Given the description of an element on the screen output the (x, y) to click on. 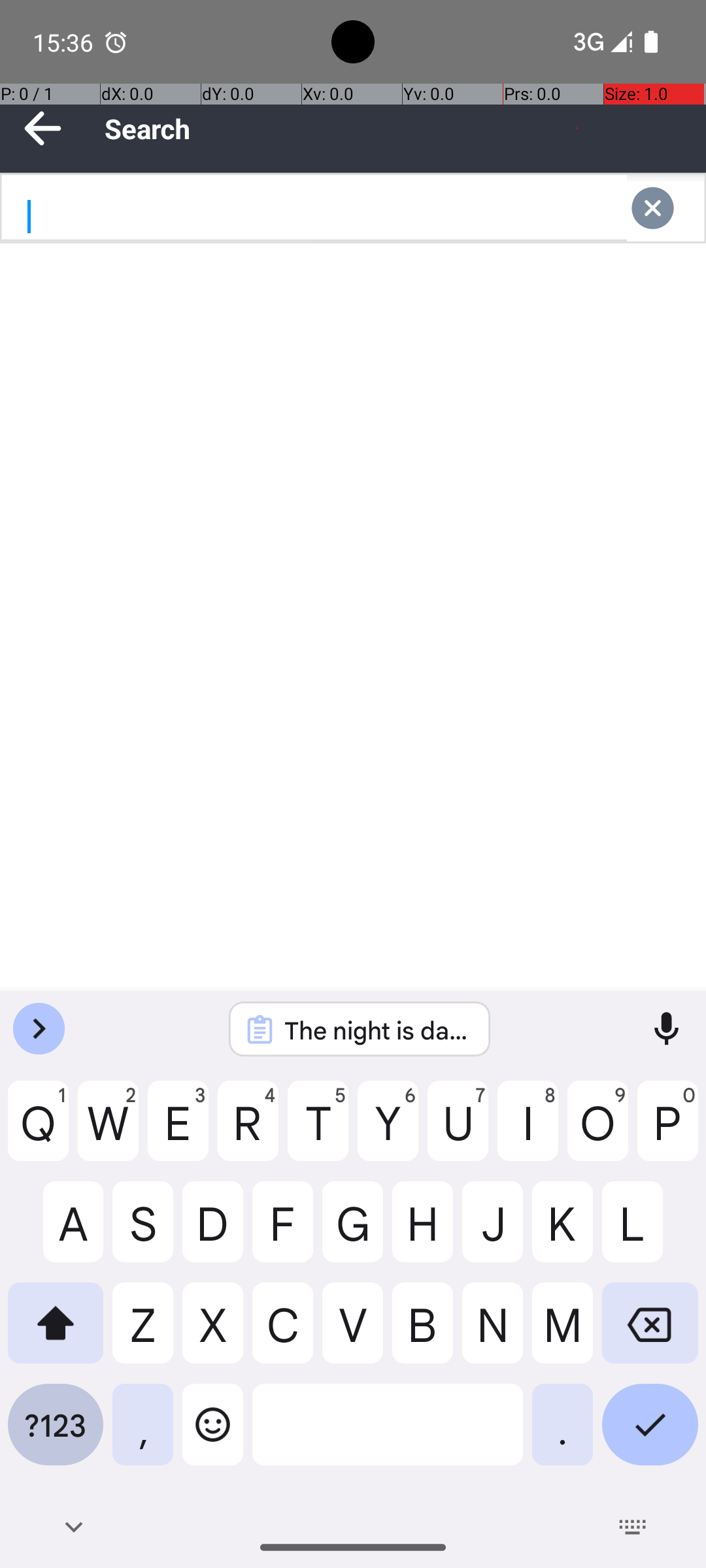
The night is dark and full of terrors. Element type: android.widget.TextView (376, 1029)
